Given the description of an element on the screen output the (x, y) to click on. 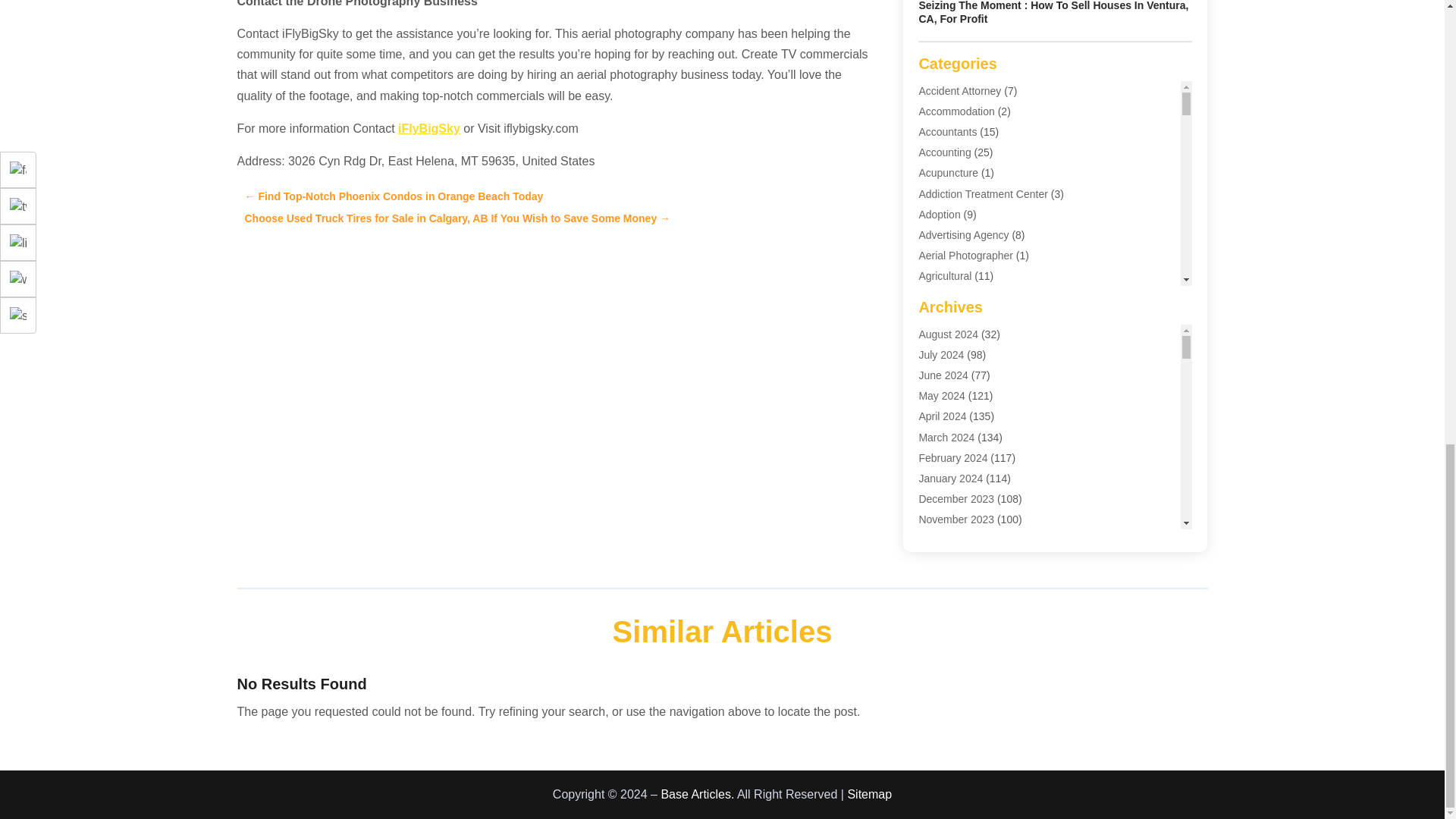
iFlyBigSky (428, 128)
Accounting (944, 152)
Aerial Photographer (965, 255)
Acupuncture (948, 173)
Advertising Agency (963, 234)
Adoption (938, 214)
Accident Attorney (959, 91)
Accommodation (956, 111)
Addiction Treatment Center (982, 193)
